Given the description of an element on the screen output the (x, y) to click on. 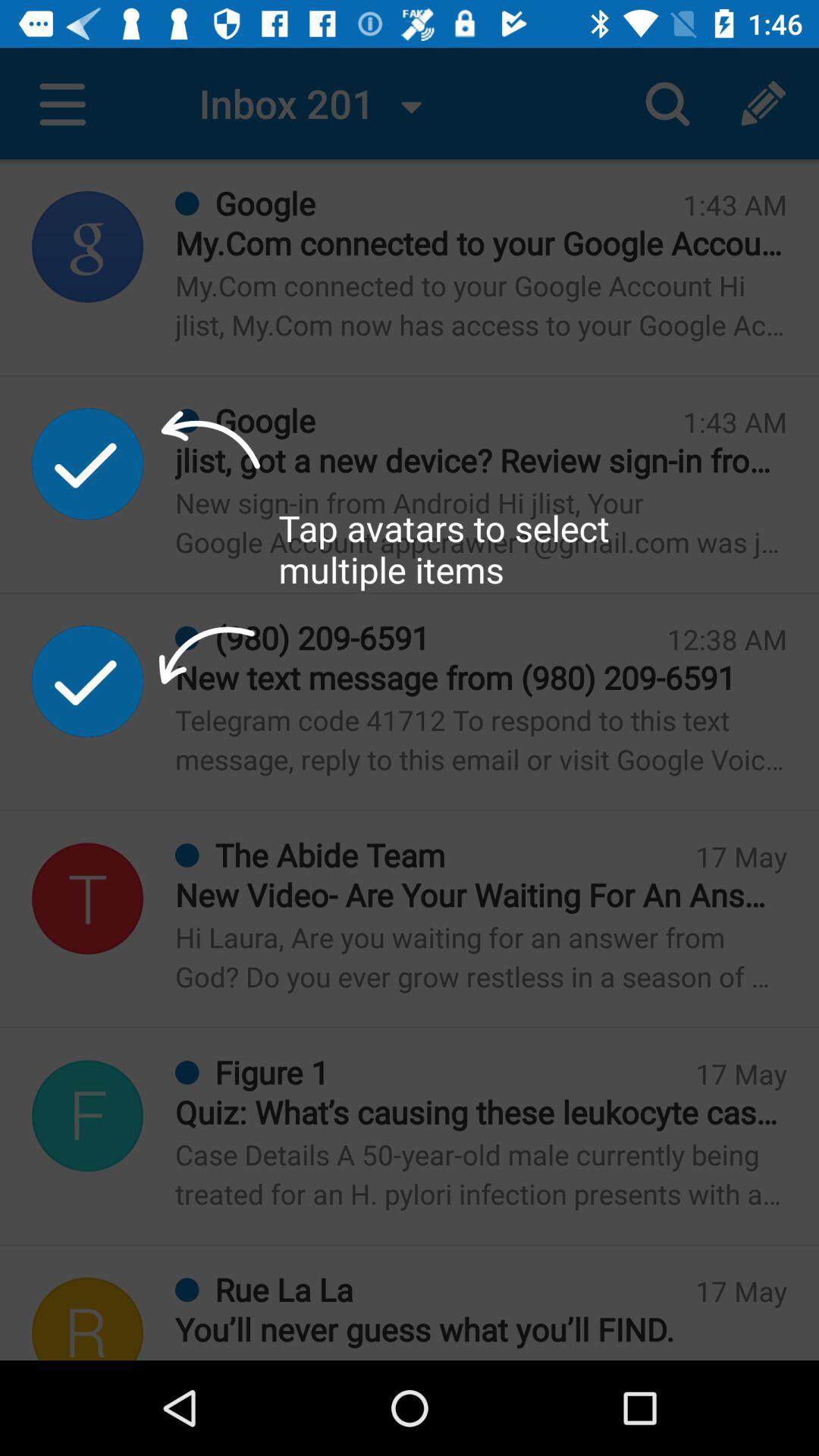
go to the second tick mark (87, 681)
click on r (87, 1318)
